Given the description of an element on the screen output the (x, y) to click on. 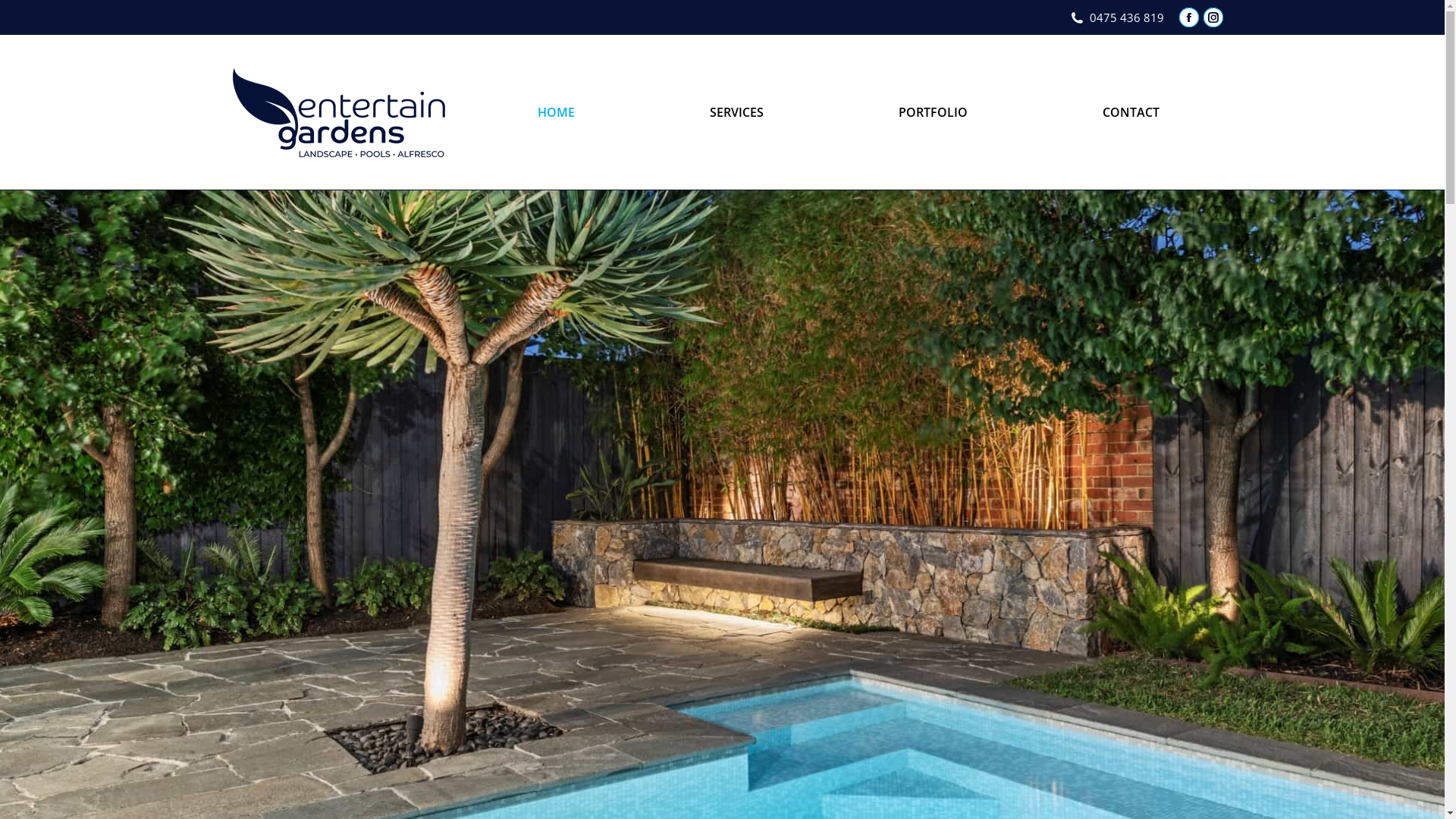
SERVICES Element type: text (736, 111)
CONTACT Element type: text (1130, 111)
0475 436 819 Element type: text (1116, 17)
Facebook page opens in new window Element type: hover (1188, 17)
HOME Element type: text (555, 111)
PORTFOLIO Element type: text (932, 111)
Instagram page opens in new window Element type: hover (1212, 17)
